Given the description of an element on the screen output the (x, y) to click on. 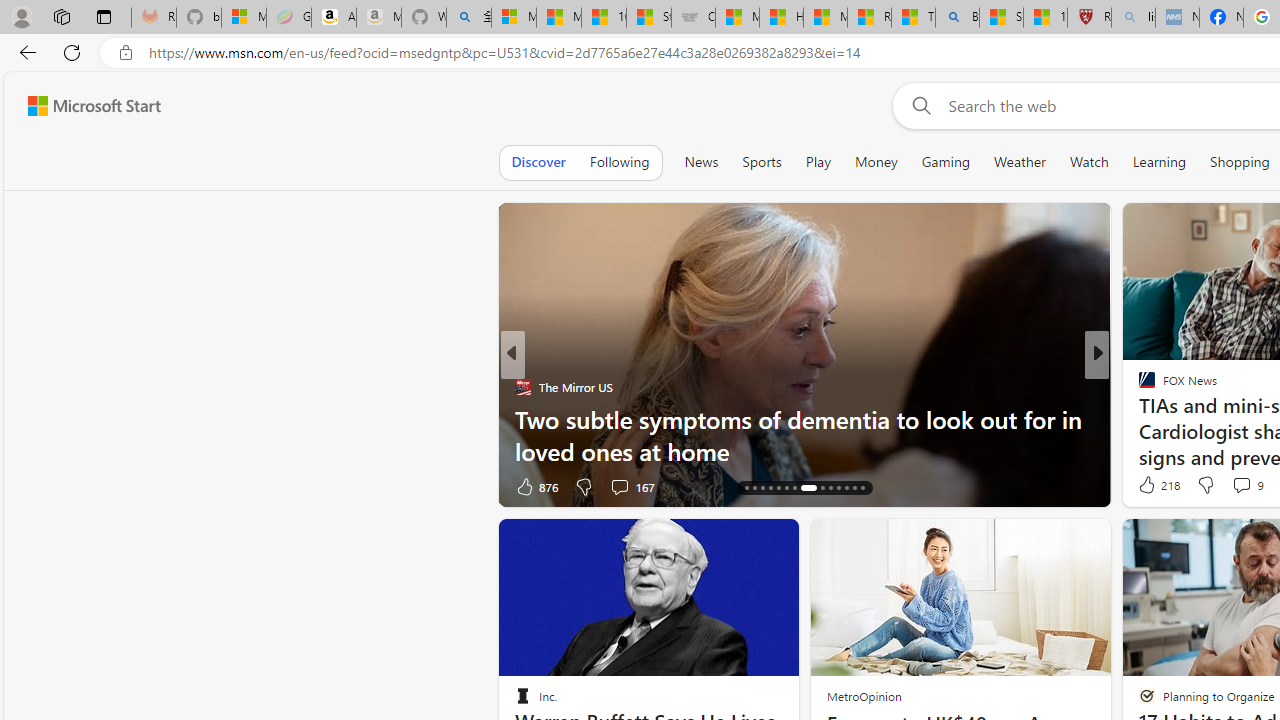
AutomationID: tab-23 (821, 487)
AutomationID: tab-15 (746, 487)
67 Like (1149, 486)
The Mirror US (522, 386)
Recipes - MSN (868, 17)
876 Like (535, 486)
